Given the description of an element on the screen output the (x, y) to click on. 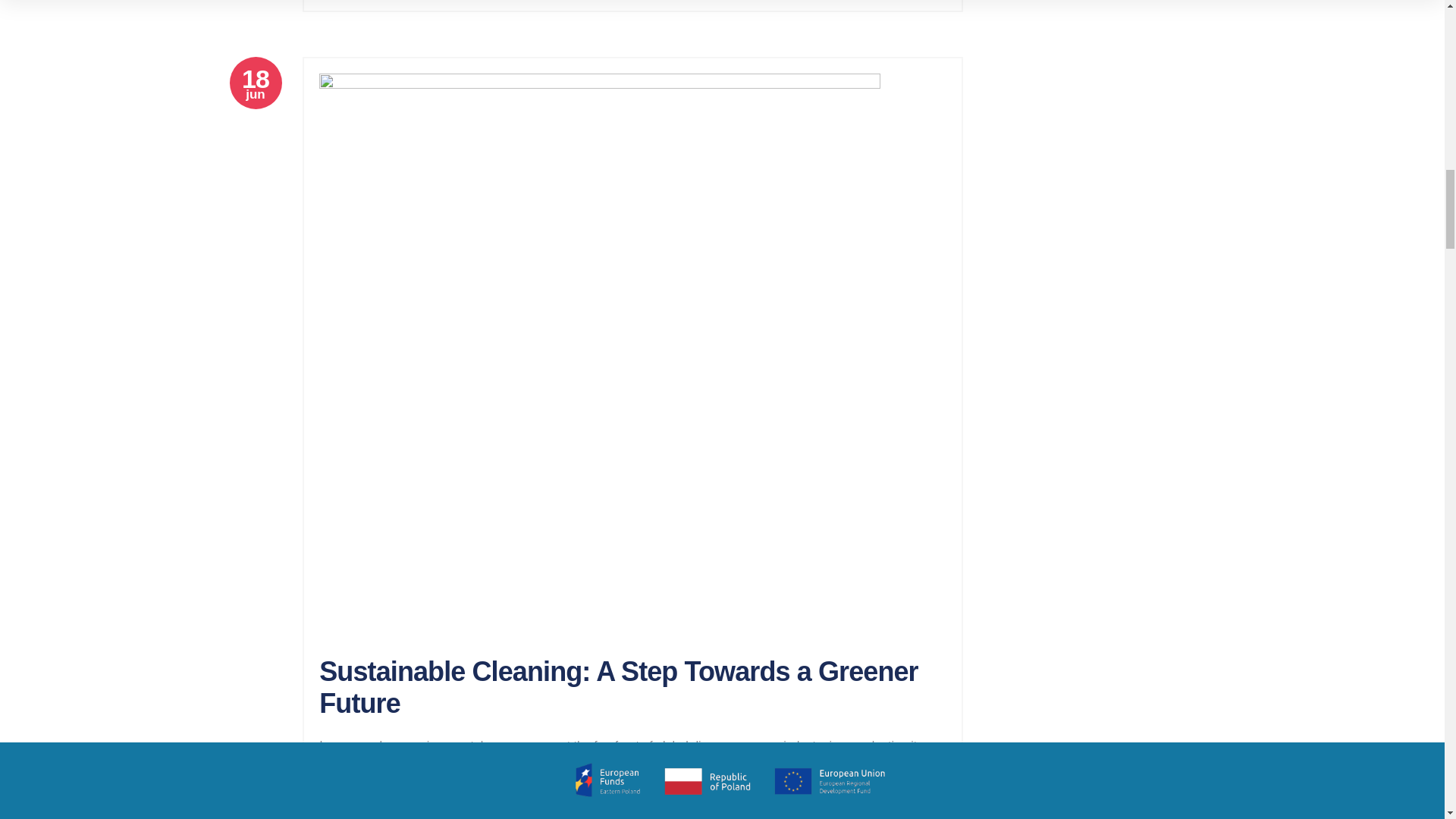
Sustainable Cleaning: A Step Towards a Greener Future (617, 687)
